Given the description of an element on the screen output the (x, y) to click on. 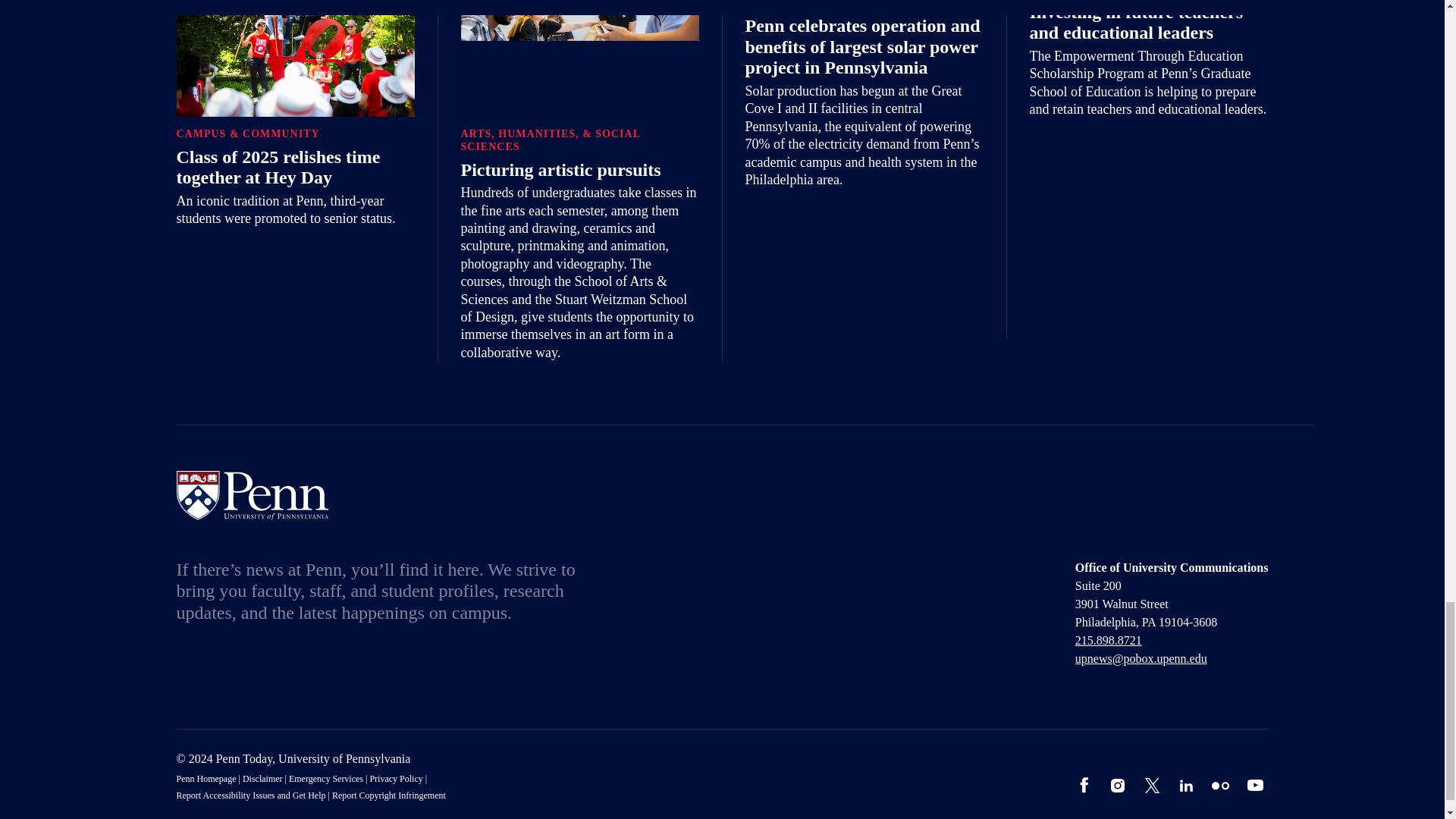
Pennsylvania (1149, 621)
